Given the description of an element on the screen output the (x, y) to click on. 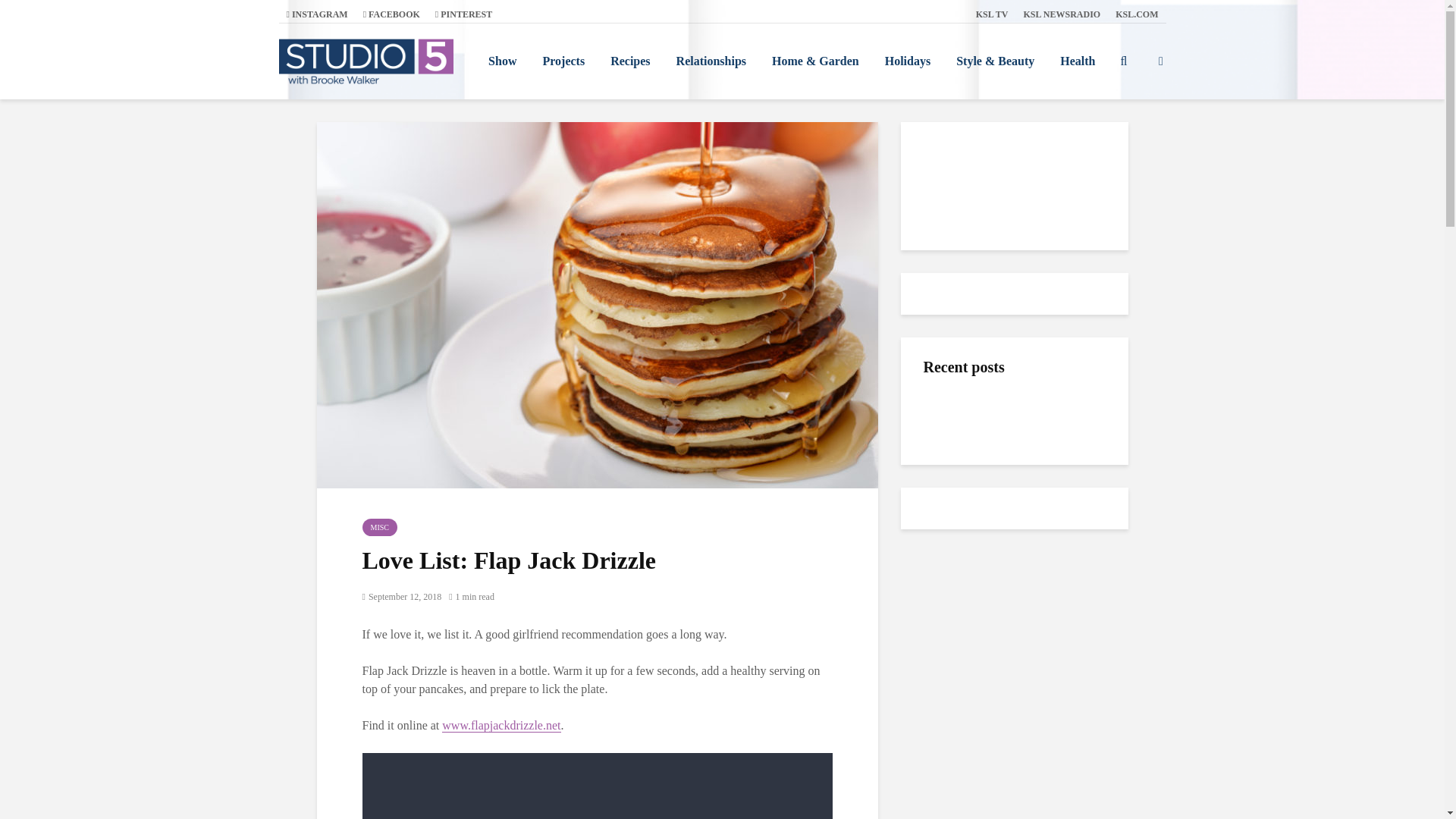
KSL.COM (1137, 14)
FACEBOOK (391, 14)
KSL NEWSRADIO (1061, 14)
Projects (563, 60)
www.flapjackdrizzle.net (501, 725)
Health (1077, 60)
Relationships (711, 60)
KSL TV (992, 14)
PINTEREST (463, 14)
Recipes (629, 60)
